Given the description of an element on the screen output the (x, y) to click on. 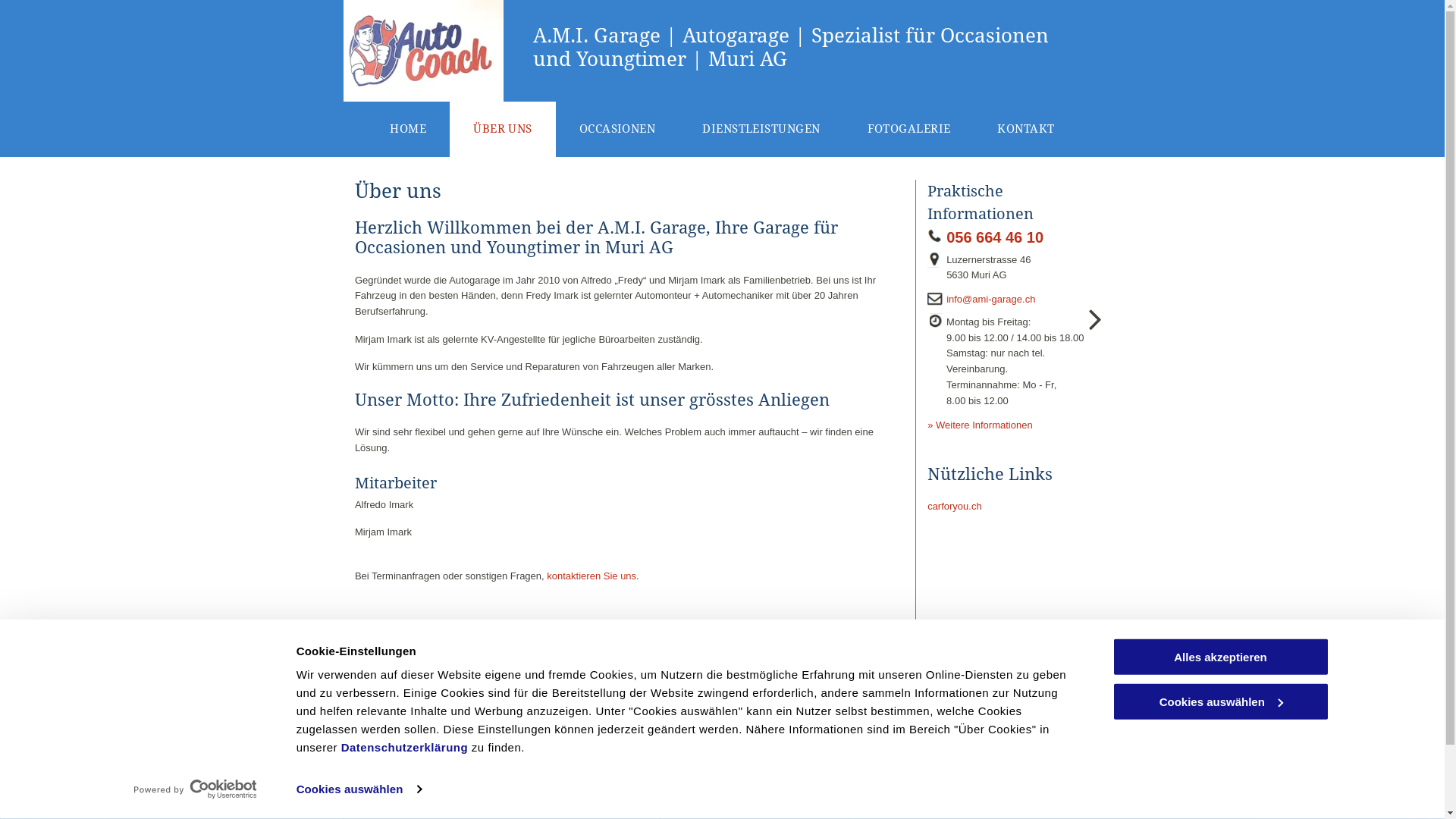
kontaktieren Sie uns Element type: text (591, 575)
Alles akzeptieren Element type: text (1219, 656)
carforyou.ch Element type: text (954, 505)
fb:like Facebook Social Plugin Element type: hover (377, 759)
OCCASIONEN Element type: text (617, 128)
056 664 46 10 Element type: text (994, 237)
info@ami-garage.ch Element type: text (990, 298)
carforyou.ch Element type: text (887, 756)
zum Formular Element type: text (701, 773)
KONTAKT Element type: text (1025, 128)
HOME Element type: text (407, 128)
FOTOGALERIE Element type: text (908, 128)
